Given the description of an element on the screen output the (x, y) to click on. 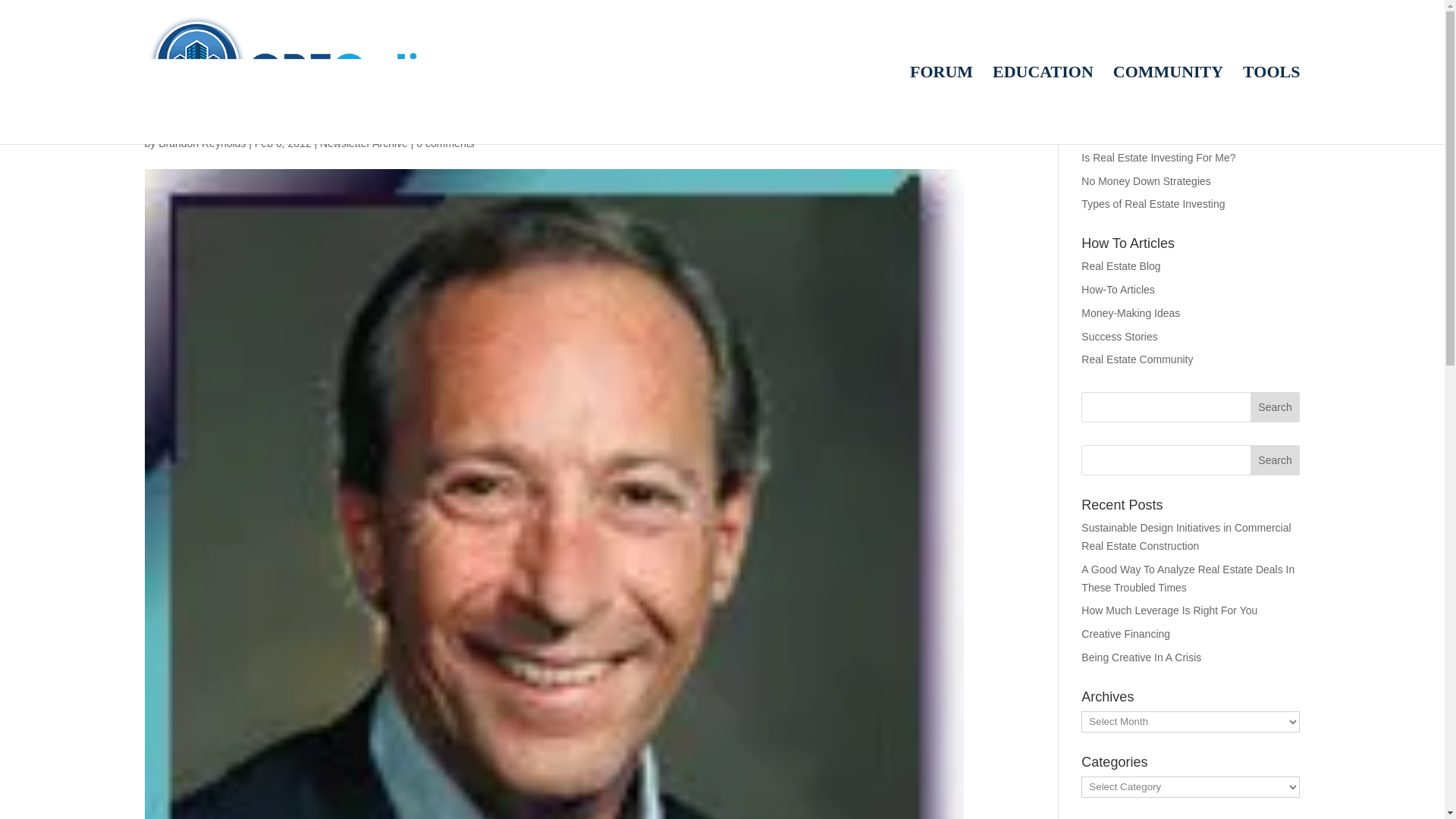
0 comments (445, 143)
Being Creative In A Crisis (1141, 657)
Search (1275, 460)
Newsletter Archive (363, 143)
How-To Articles (1117, 289)
Low Risk Real Estate Investing (1154, 133)
Real Estate Blog (1120, 265)
Search (1275, 460)
EDUCATION (1042, 105)
